Given the description of an element on the screen output the (x, y) to click on. 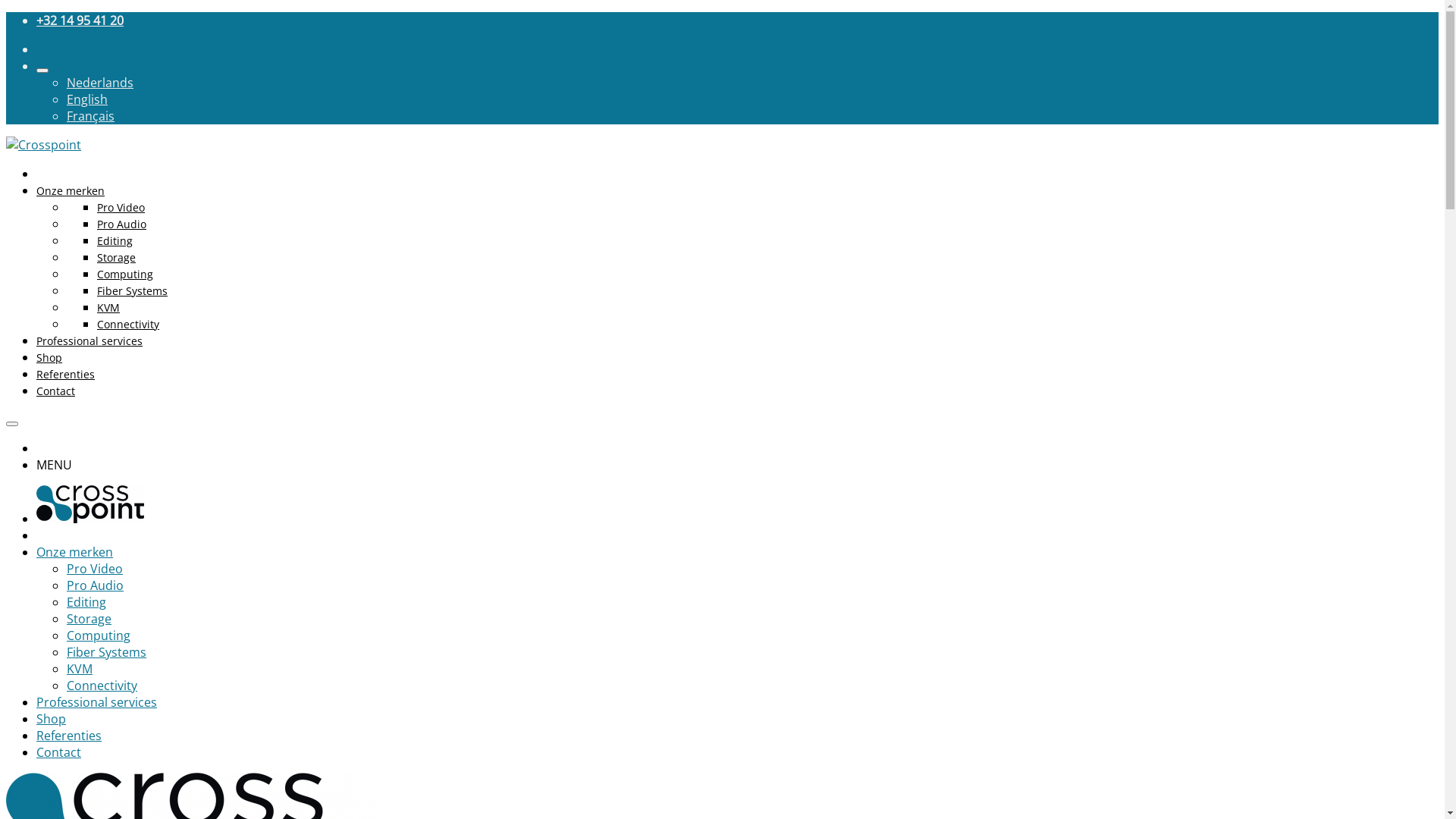
Fiber Systems Element type: text (106, 651)
Onze merken Element type: text (74, 551)
Editing Element type: text (86, 601)
+32 14 95 41 20 Element type: text (79, 20)
Professional services Element type: text (96, 701)
Nederlands Element type: text (99, 82)
Onze merken Element type: text (70, 190)
Professional services Element type: text (89, 340)
Storage Element type: text (116, 257)
Shop Element type: text (50, 718)
Shop Element type: text (49, 357)
Referenties Element type: text (68, 735)
English Element type: text (86, 99)
Referenties Element type: text (65, 374)
Editing Element type: text (114, 240)
Pro Audio Element type: text (94, 585)
Connectivity Element type: text (128, 323)
Contact Element type: text (55, 390)
Contact Element type: text (58, 751)
Pro Audio Element type: text (121, 223)
Connectivity Element type: text (101, 685)
KVM Element type: text (108, 307)
Storage Element type: text (88, 618)
KVM Element type: text (79, 668)
Computing Element type: text (98, 635)
Fiber Systems Element type: text (132, 290)
Pro Video Element type: text (120, 207)
Computing Element type: text (125, 273)
Pro Video Element type: text (94, 568)
